Given the description of an element on the screen output the (x, y) to click on. 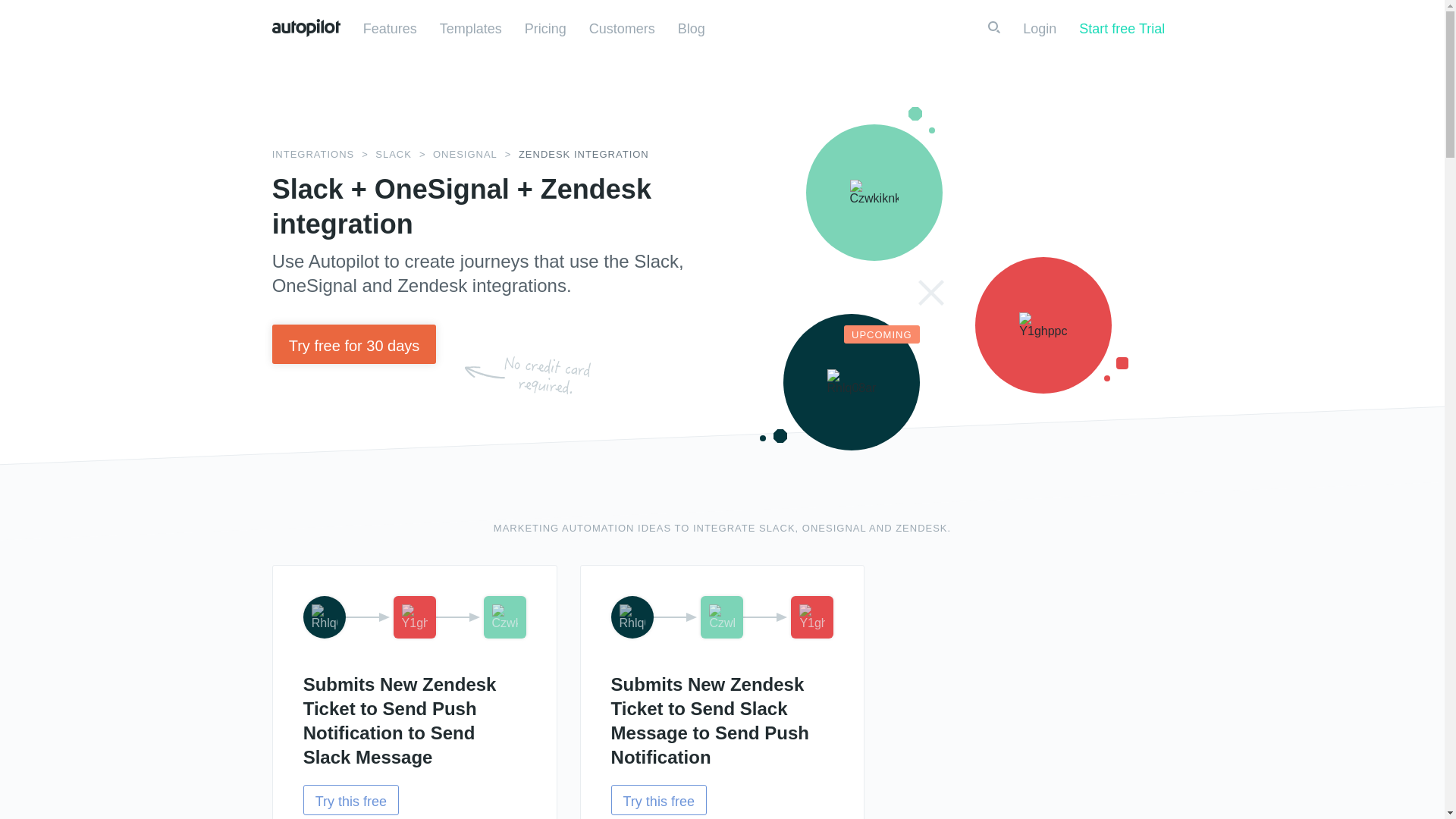
Blog (691, 28)
Customers (622, 28)
Login (1040, 28)
Pricing (545, 28)
Templates (470, 28)
Features (389, 28)
Start free Trial (1121, 27)
